Given the description of an element on the screen output the (x, y) to click on. 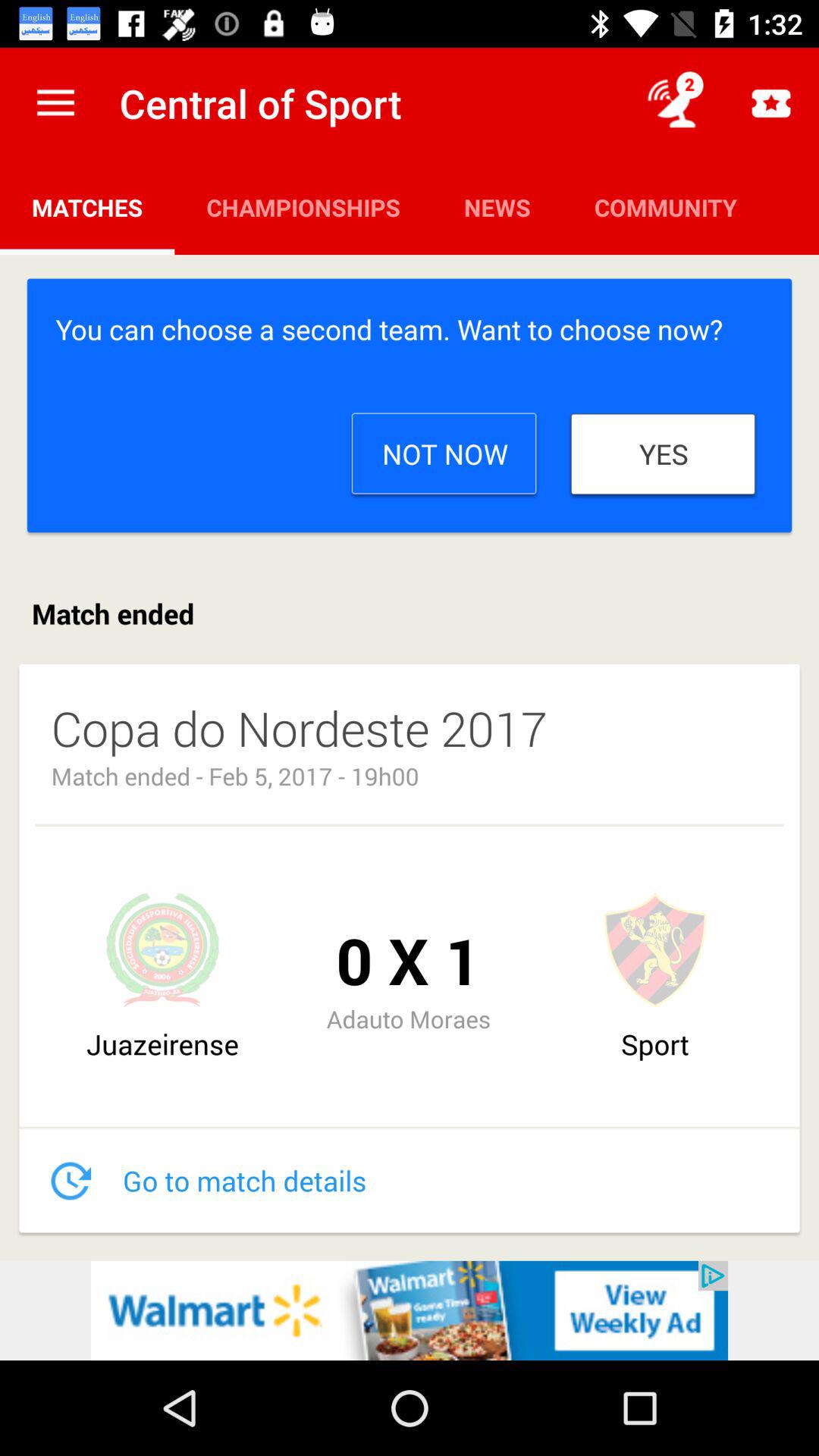
share the article (409, 1310)
